Given the description of an element on the screen output the (x, y) to click on. 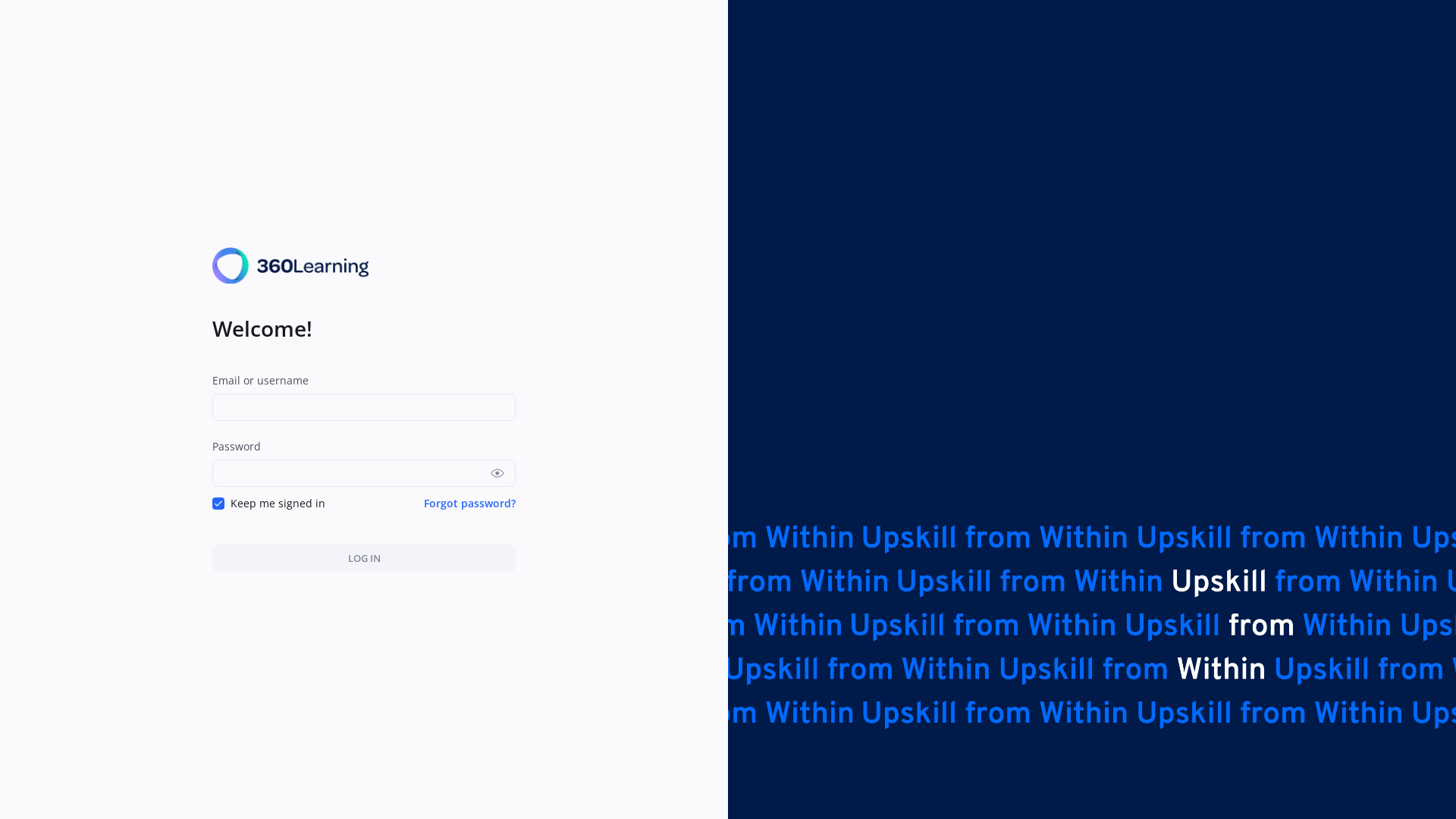
Forgot password? Element type: text (469, 502)
LOG IN Element type: text (363, 557)
